Given the description of an element on the screen output the (x, y) to click on. 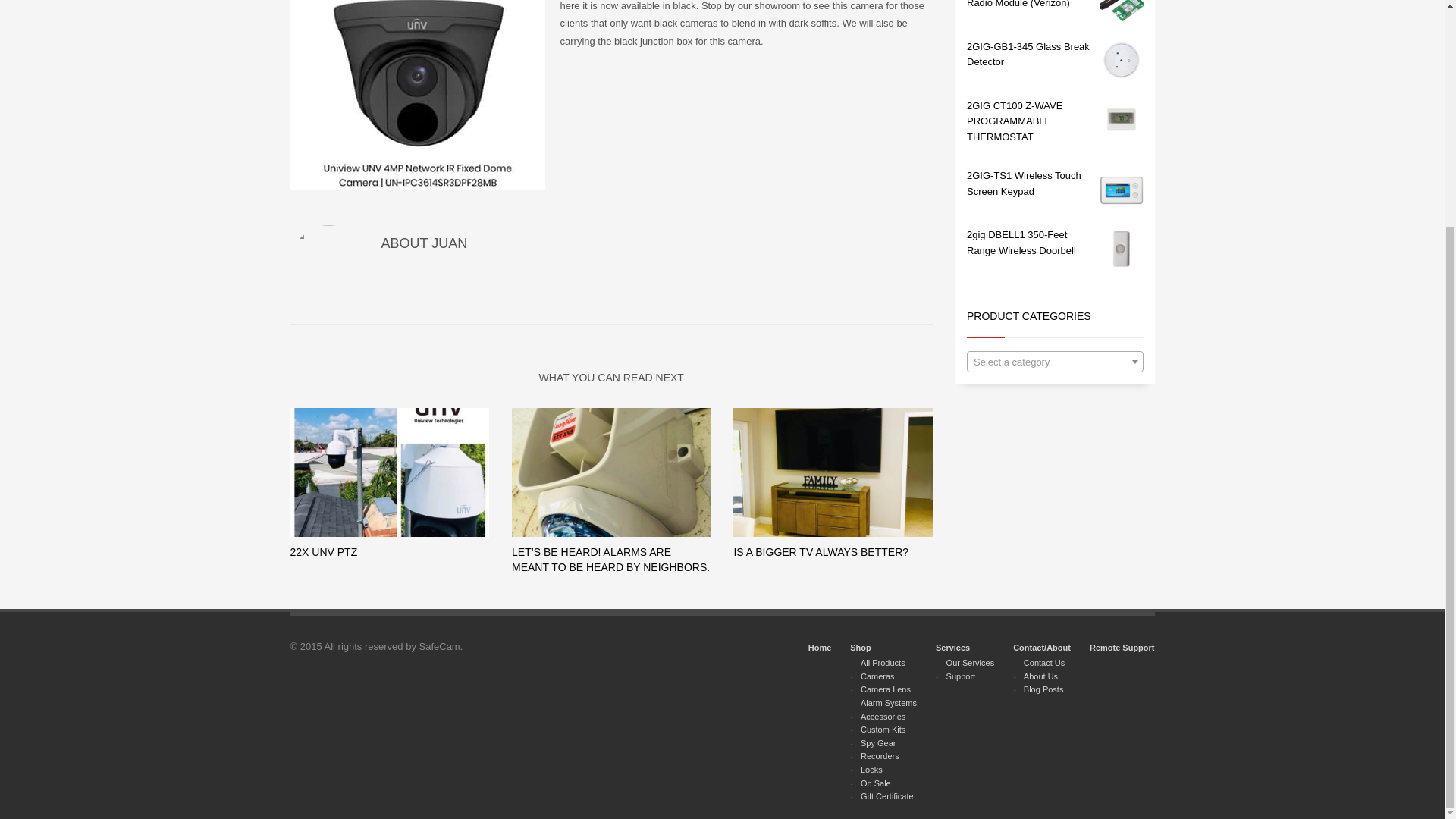
fullsizerender-compressed.jpg (832, 472)
fullsizerender-compressed.jpg (416, 95)
22X UNV PTZ (322, 551)
